Given the description of an element on the screen output the (x, y) to click on. 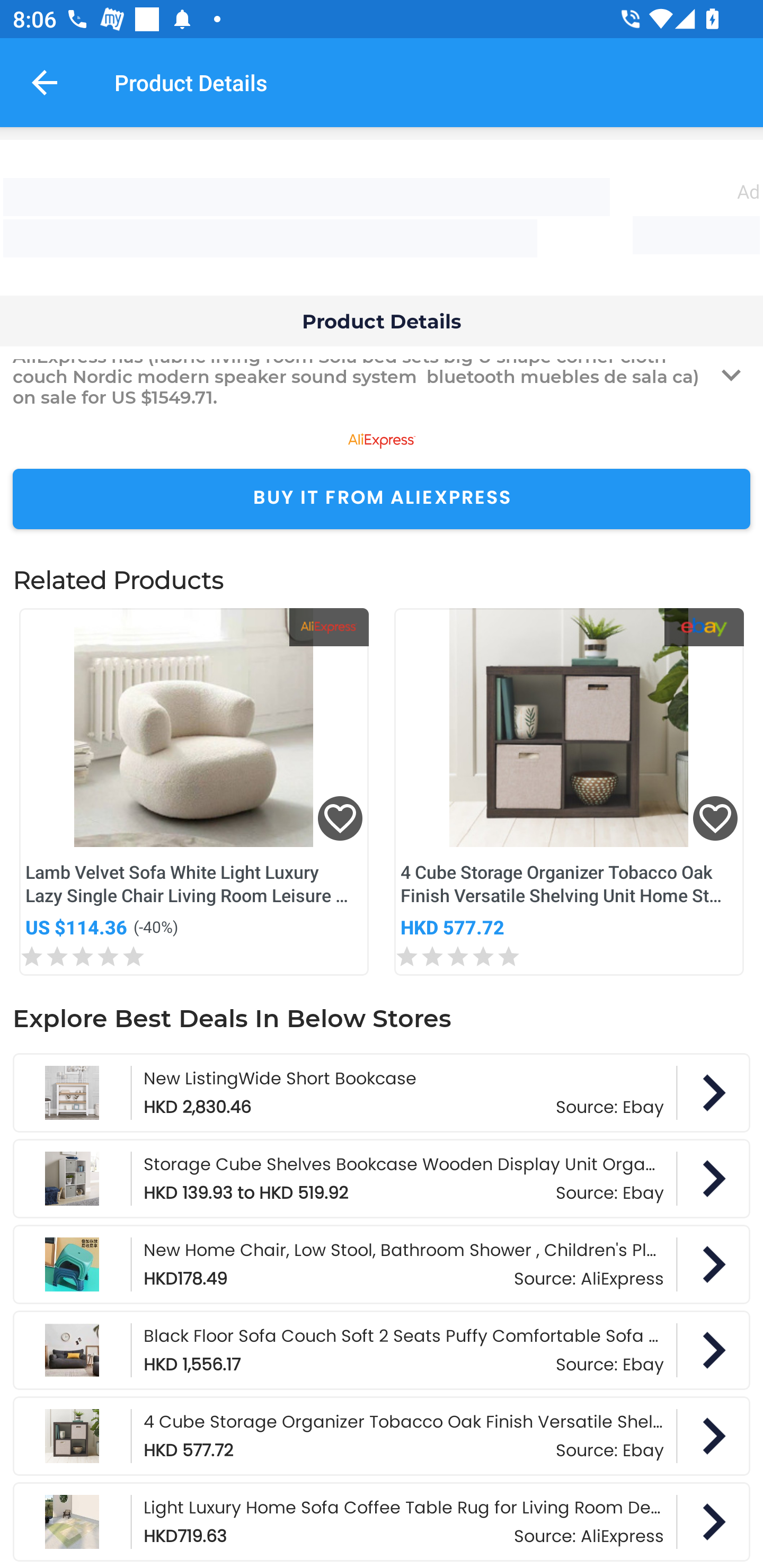
Navigate up (44, 82)
BUY IT FROM ALIEXPRESS (381, 499)
